Given the description of an element on the screen output the (x, y) to click on. 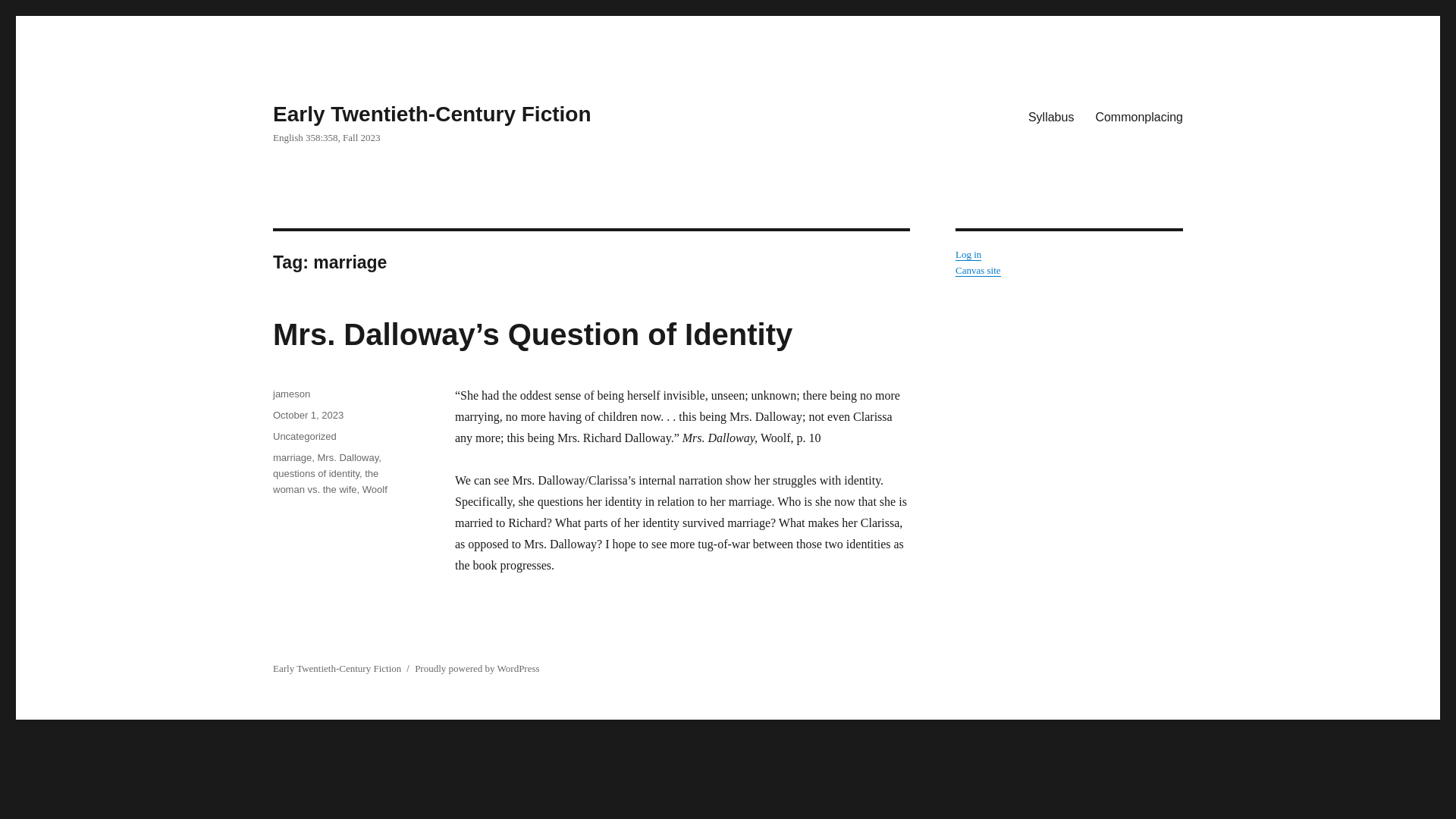
marriage (292, 457)
Early Twentieth-Century Fiction (337, 668)
Woolf (374, 489)
Syllabus (1050, 116)
jameson (291, 393)
Mrs. Dalloway (347, 457)
October 1, 2023 (308, 414)
Commonplacing (1138, 116)
Early Twentieth-Century Fiction (432, 114)
the woman vs. the wife (325, 481)
Proudly powered by WordPress (476, 668)
Canvas site (978, 270)
questions of identity (316, 473)
Log in (968, 254)
